Given the description of an element on the screen output the (x, y) to click on. 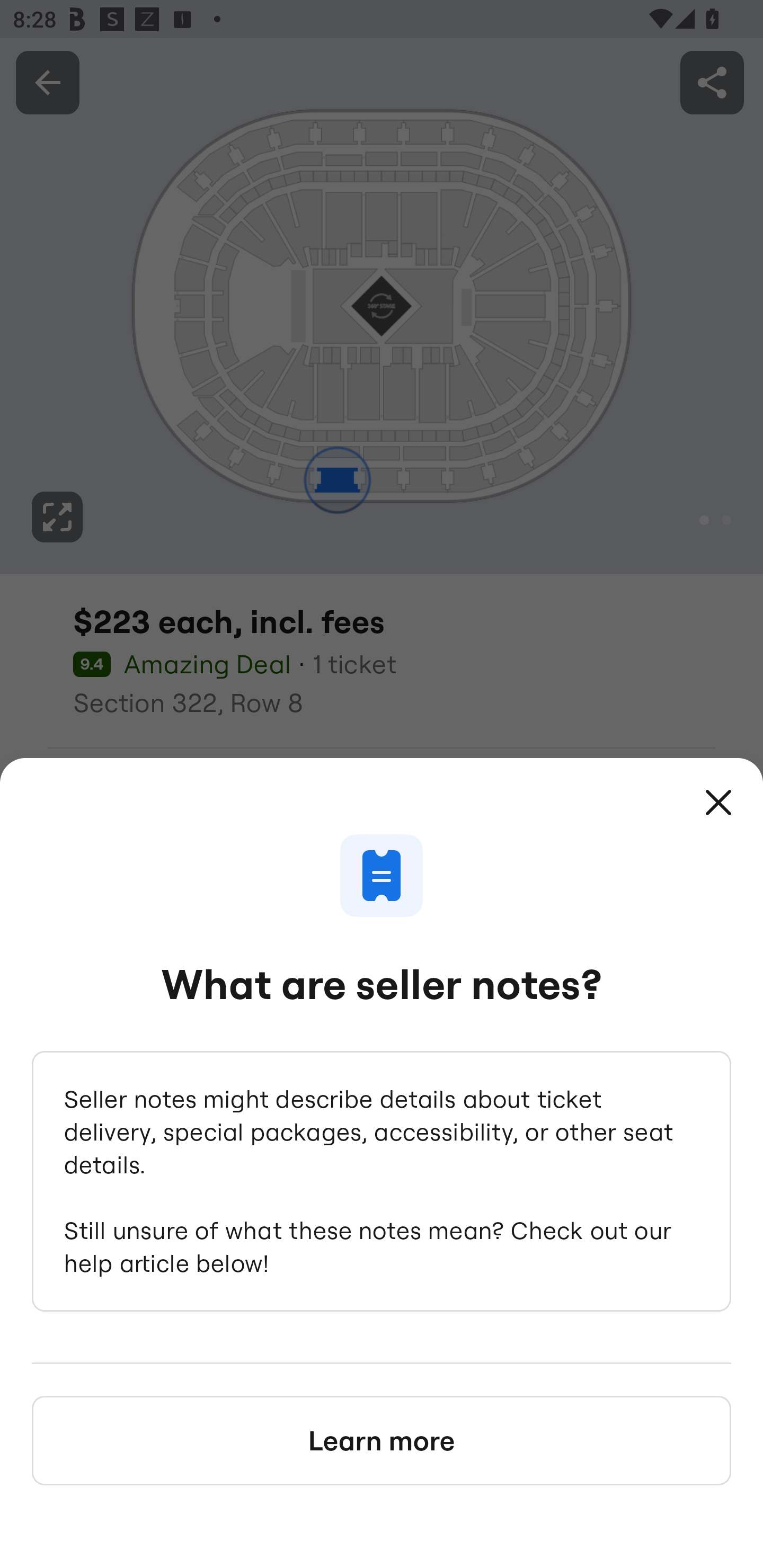
Close (718, 802)
Learn more (381, 1439)
